Given the description of an element on the screen output the (x, y) to click on. 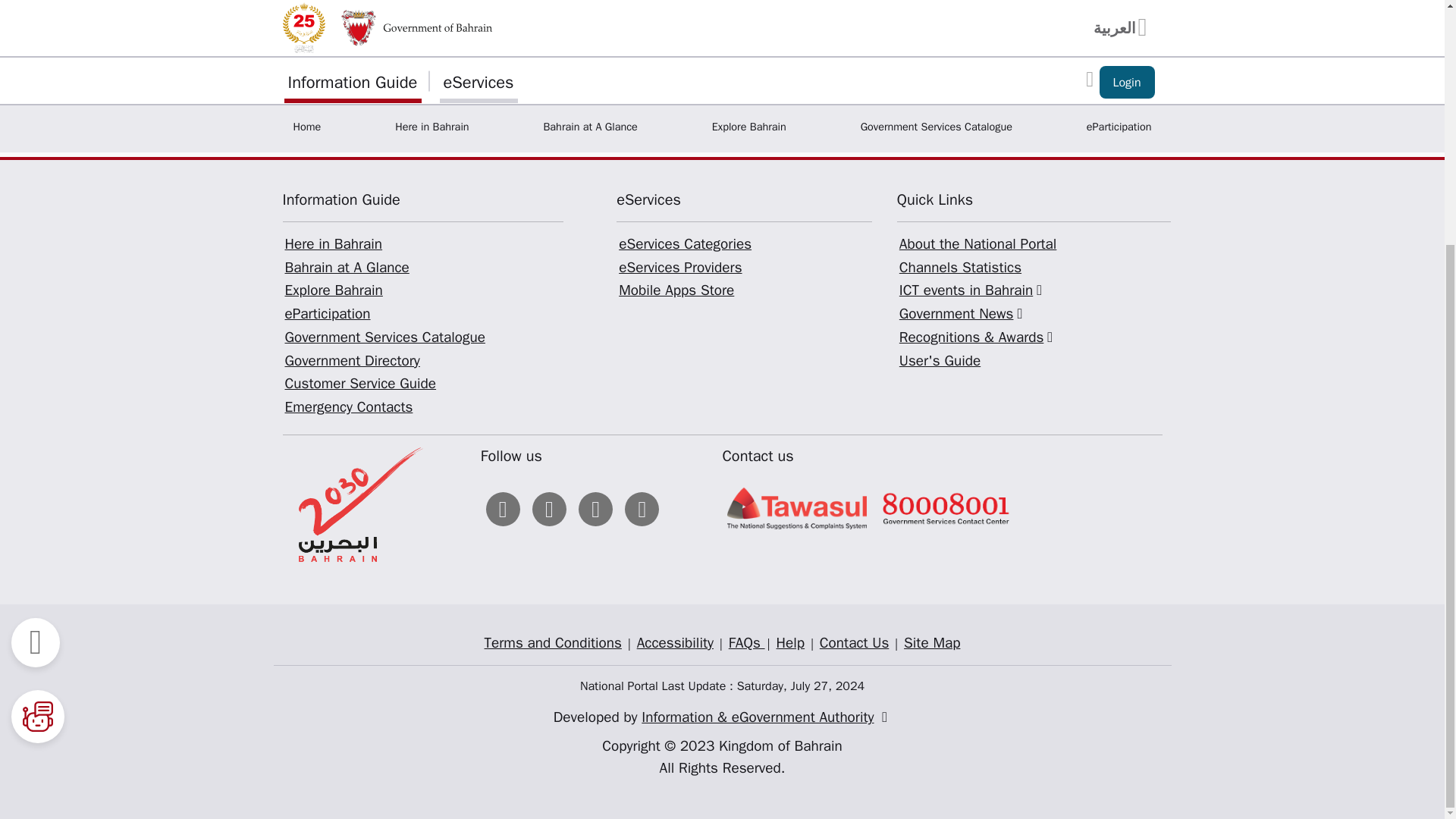
Government Services Catalogue (384, 336)
Channels Statistics (959, 267)
Government News (962, 313)
Explore Bahrain (333, 290)
Here in Bahrain (333, 243)
Unified Code of Conduct for Customer Service (543, 73)
Emergency Contacts (348, 406)
External link (1019, 313)
ICT events in Bahrain (972, 290)
eServices Categories (684, 243)
External link (1049, 336)
Government Directory (352, 360)
eParticipation (327, 313)
About the National Portal (977, 243)
Bahrain at A Glance (346, 267)
